Given the description of an element on the screen output the (x, y) to click on. 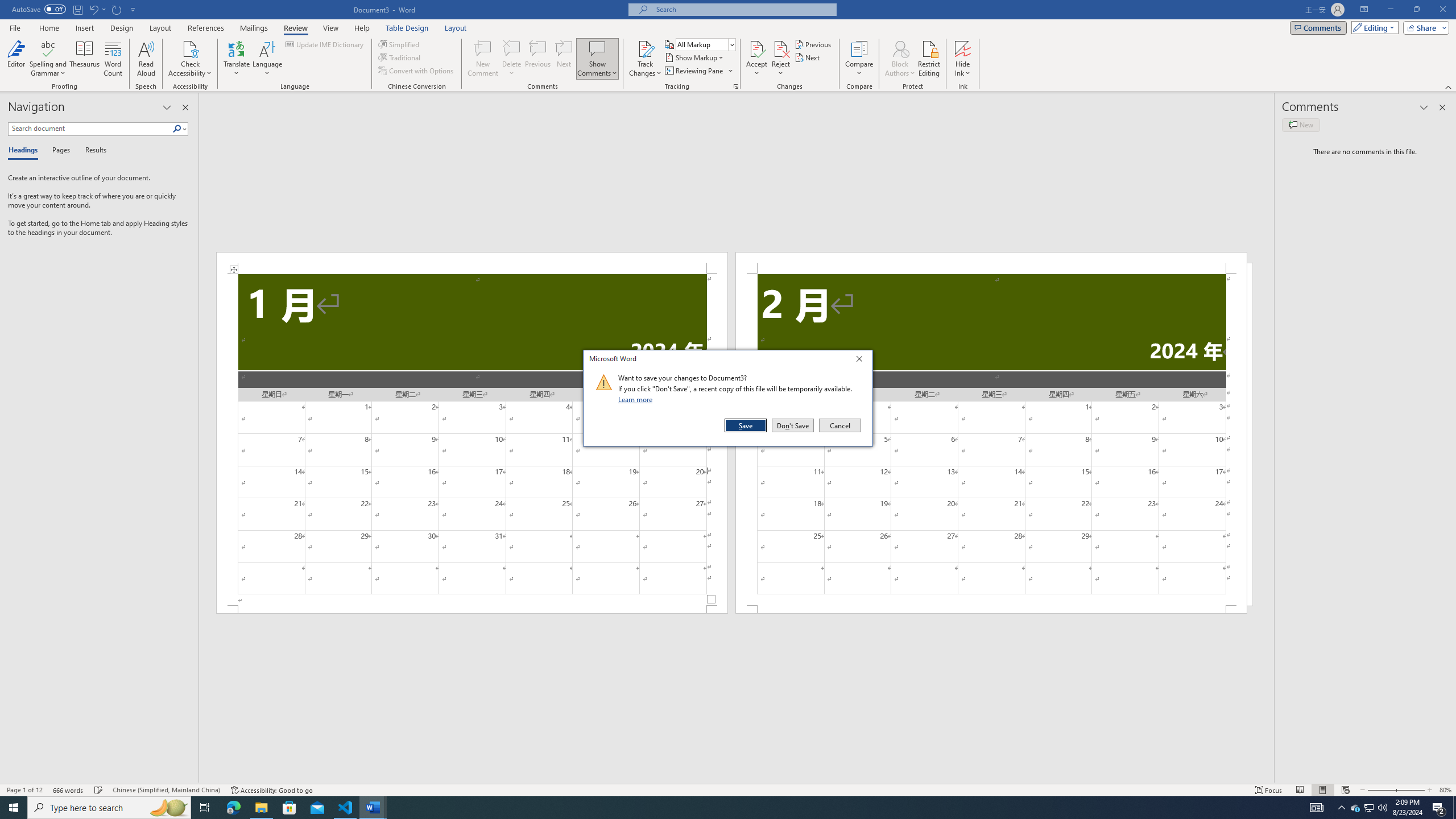
Next (808, 56)
Action Center, 2 new notifications (1439, 807)
Header -Section 2- (991, 263)
Cancel (839, 425)
Previous (813, 44)
Header -Section 1- (471, 263)
Show desktop (1454, 807)
Q2790: 100% (1382, 807)
